Given the description of an element on the screen output the (x, y) to click on. 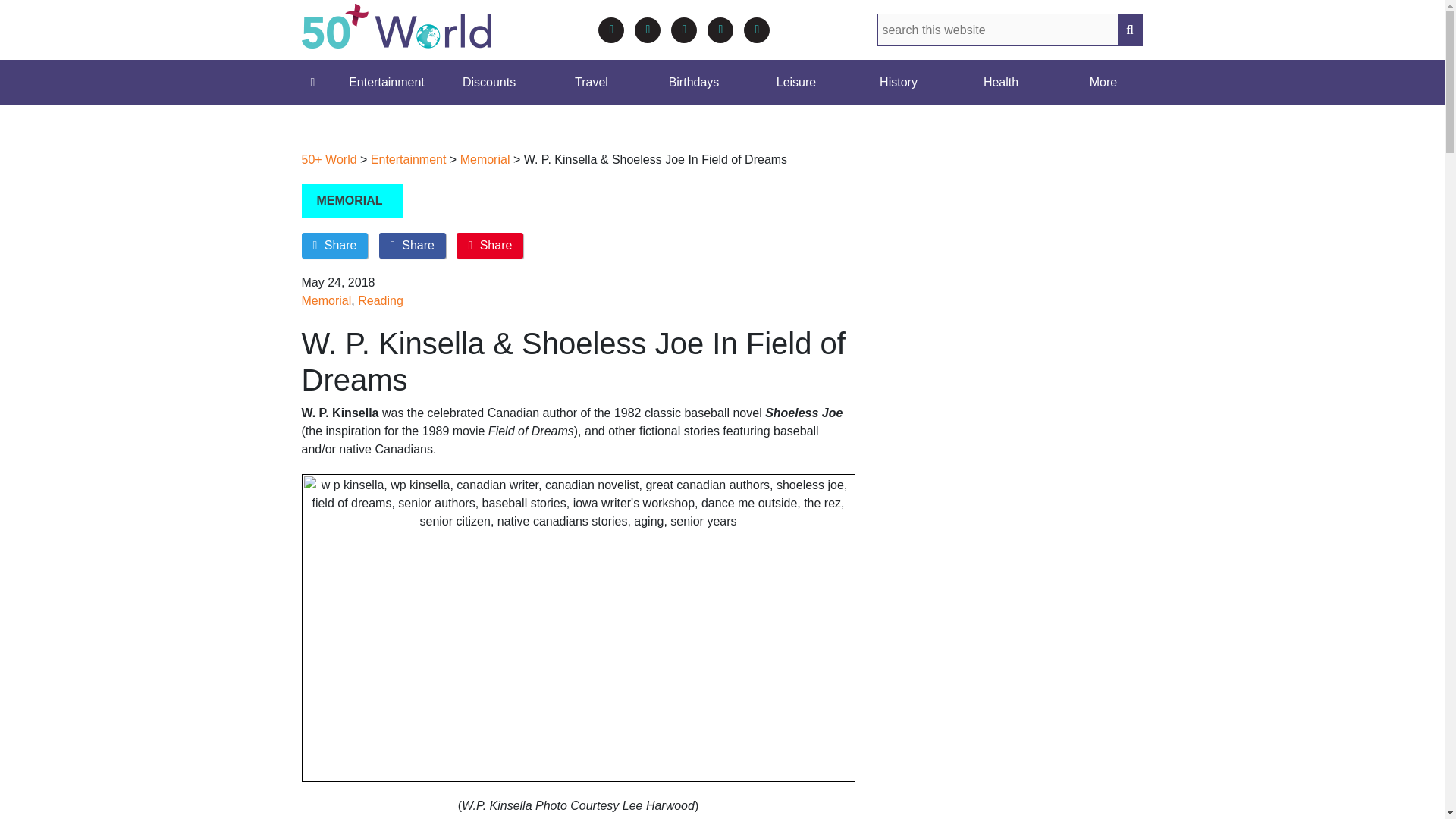
Go to the Entertainment category archives. (408, 159)
Go to the Memorial category archives. (485, 159)
Entertainment (386, 82)
